Given the description of an element on the screen output the (x, y) to click on. 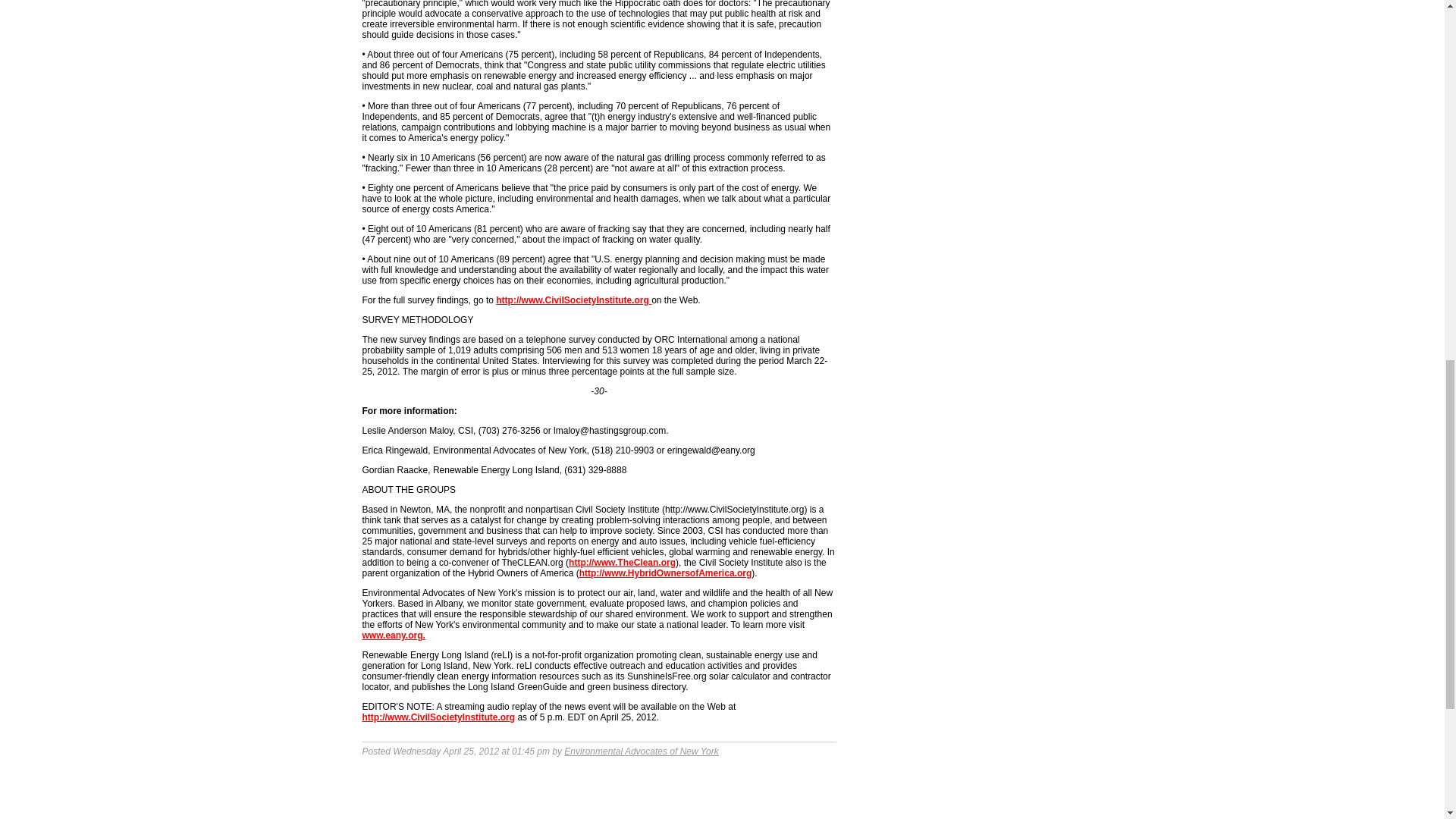
www.eany.org. (393, 634)
Environmental Advocates of New York (640, 751)
